Given the description of an element on the screen output the (x, y) to click on. 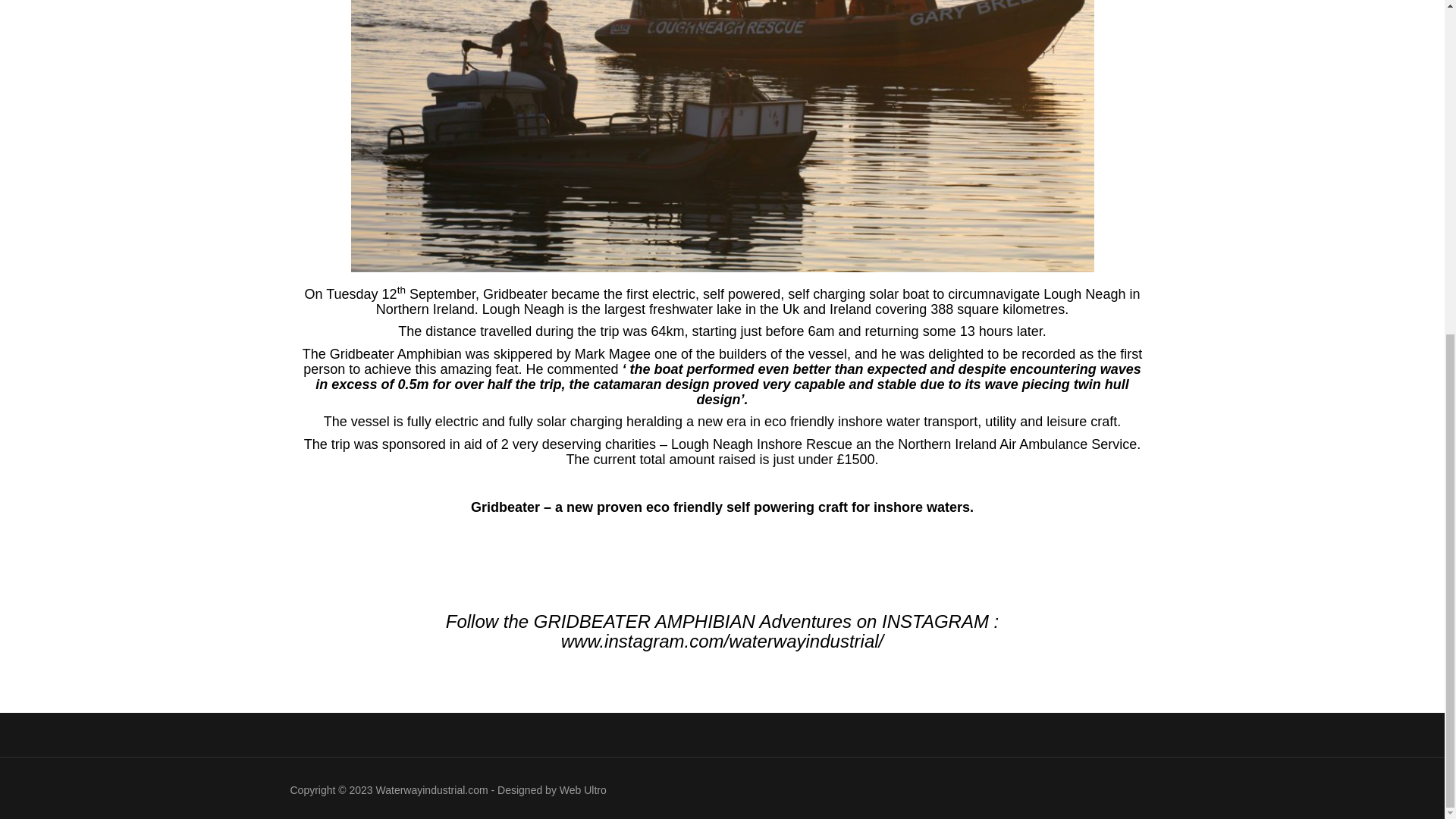
Web Ultro (583, 789)
